Given the description of an element on the screen output the (x, y) to click on. 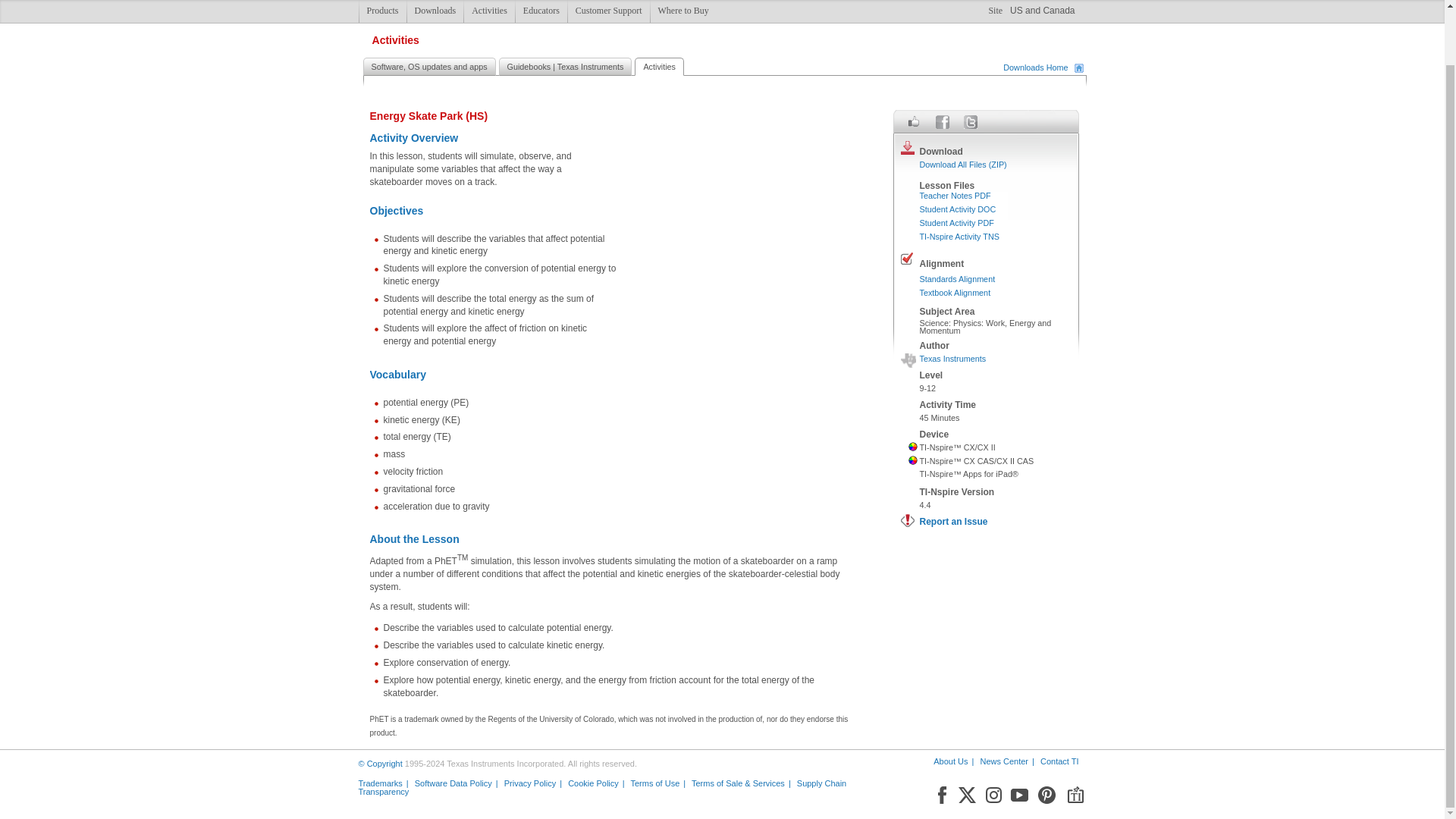
Products (382, 11)
Pinterest (1045, 792)
Activities (489, 11)
Twitter (969, 121)
Facebook (939, 792)
Facebook (941, 121)
Educators (541, 11)
Downloads (435, 11)
YouTube (1020, 792)
Recommend Activity (914, 121)
